Given the description of an element on the screen output the (x, y) to click on. 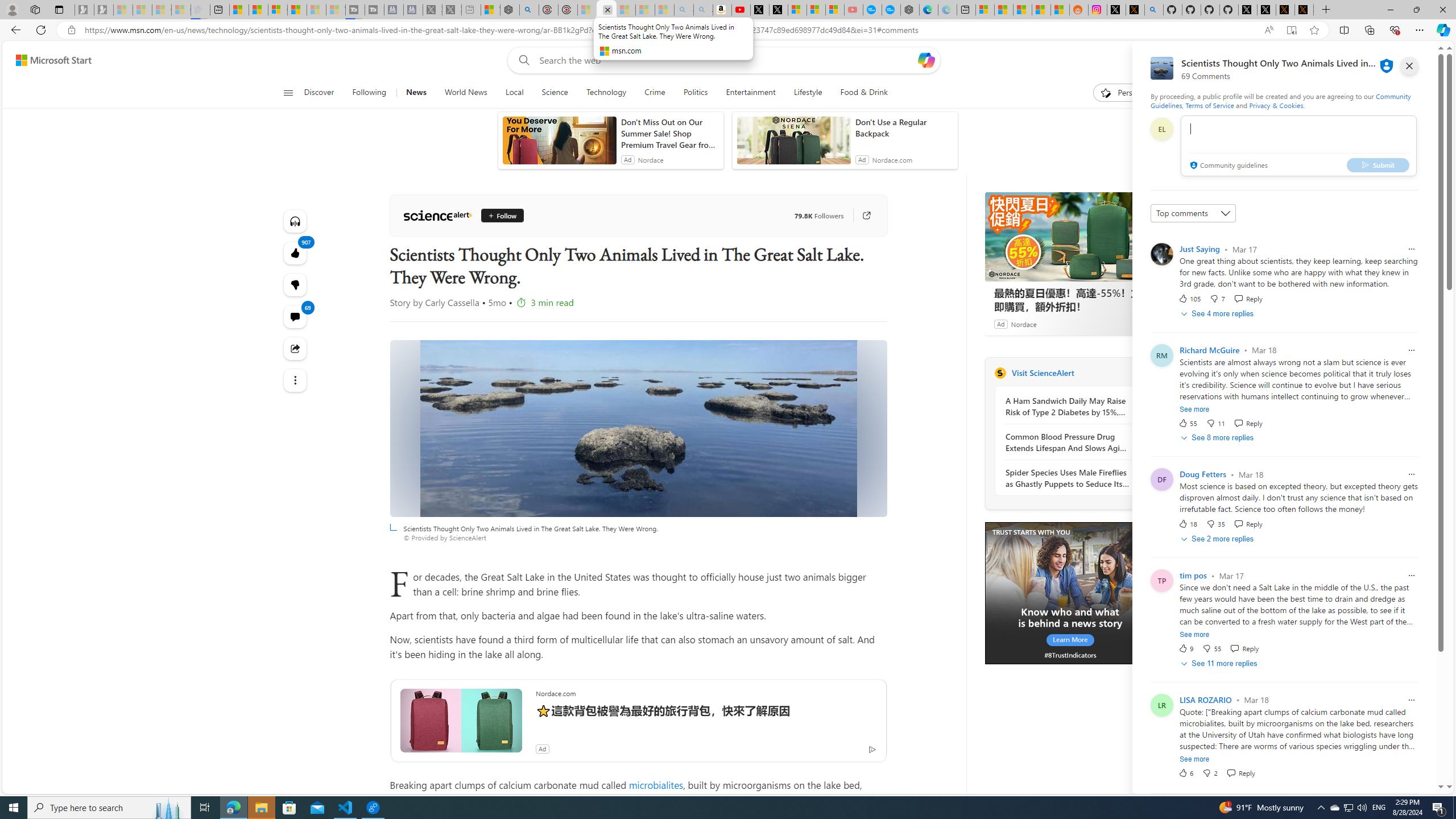
To get missing image descriptions, open the context menu. (1070, 593)
Day 1: Arriving in Yemen (surreal to be here) - YouTube (740, 9)
Food & Drink (859, 92)
github - Search (1153, 9)
Local (514, 92)
Terms of Service (1209, 104)
Lifestyle (807, 92)
Class: button-glyph (287, 92)
